Given the description of an element on the screen output the (x, y) to click on. 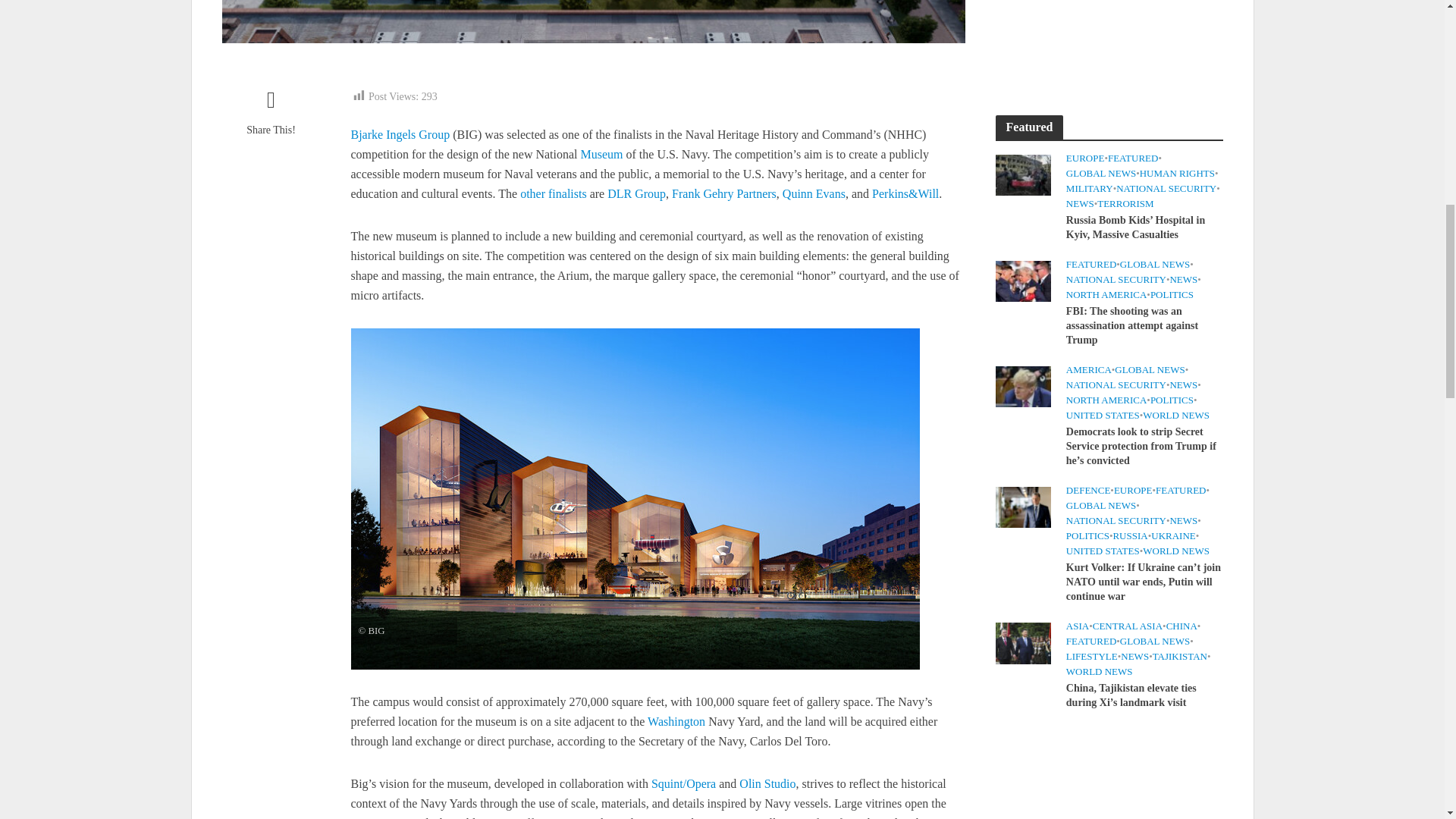
FBI: The shooting was an assassination attempt against Trump (1021, 279)
Advertisement (1108, 40)
